Given the description of an element on the screen output the (x, y) to click on. 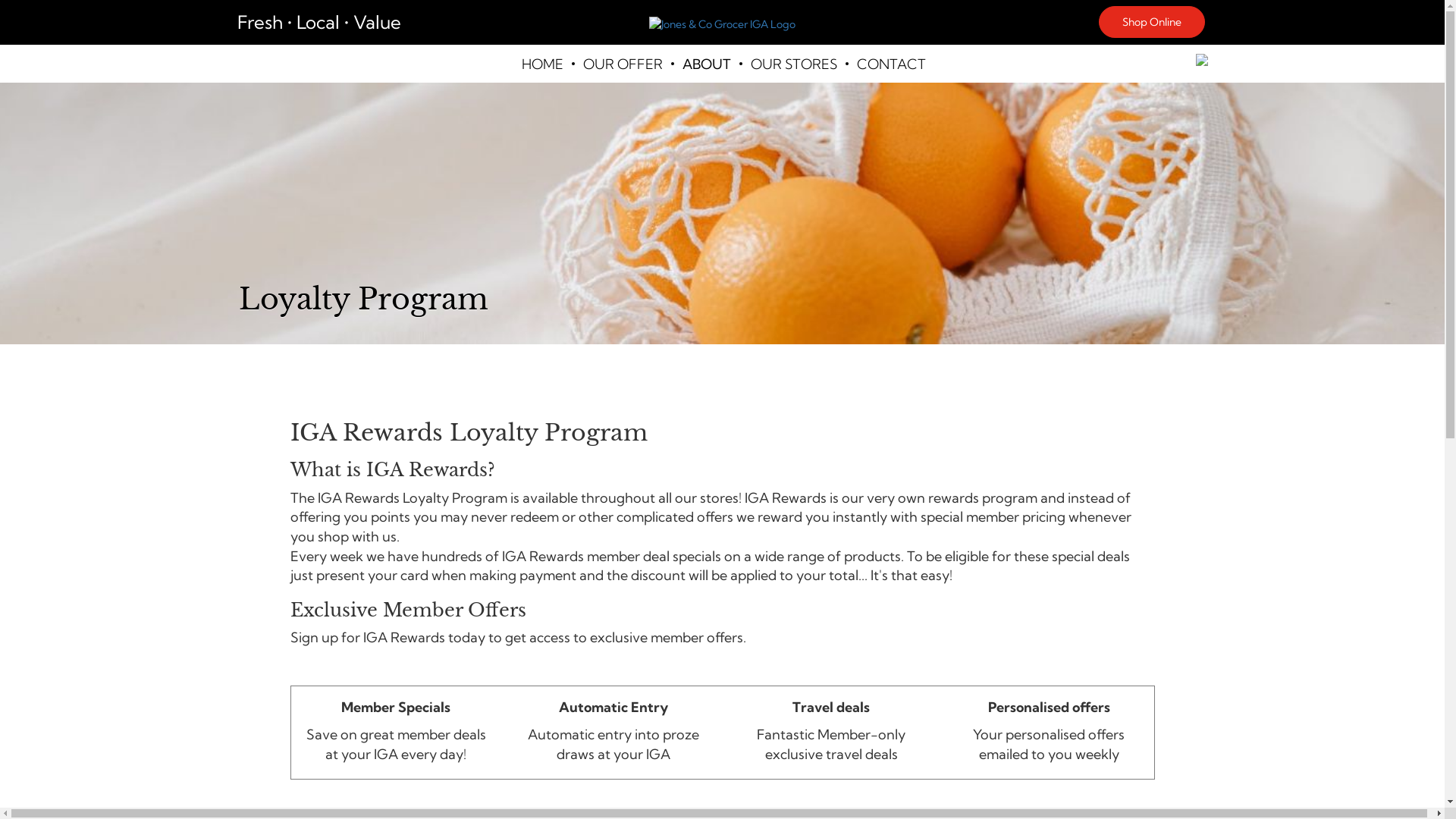
OUR STORES Element type: text (792, 63)
ABOUT Element type: text (705, 63)
click to go to this online store home page Element type: hover (722, 22)
OUR OFFER Element type: text (621, 63)
CONTACT Element type: text (889, 63)
HOME Element type: text (540, 63)
Shop Online Element type: text (1151, 21)
Jones & Co Grocer IGA Logo Element type: hover (722, 23)
